Given the description of an element on the screen output the (x, y) to click on. 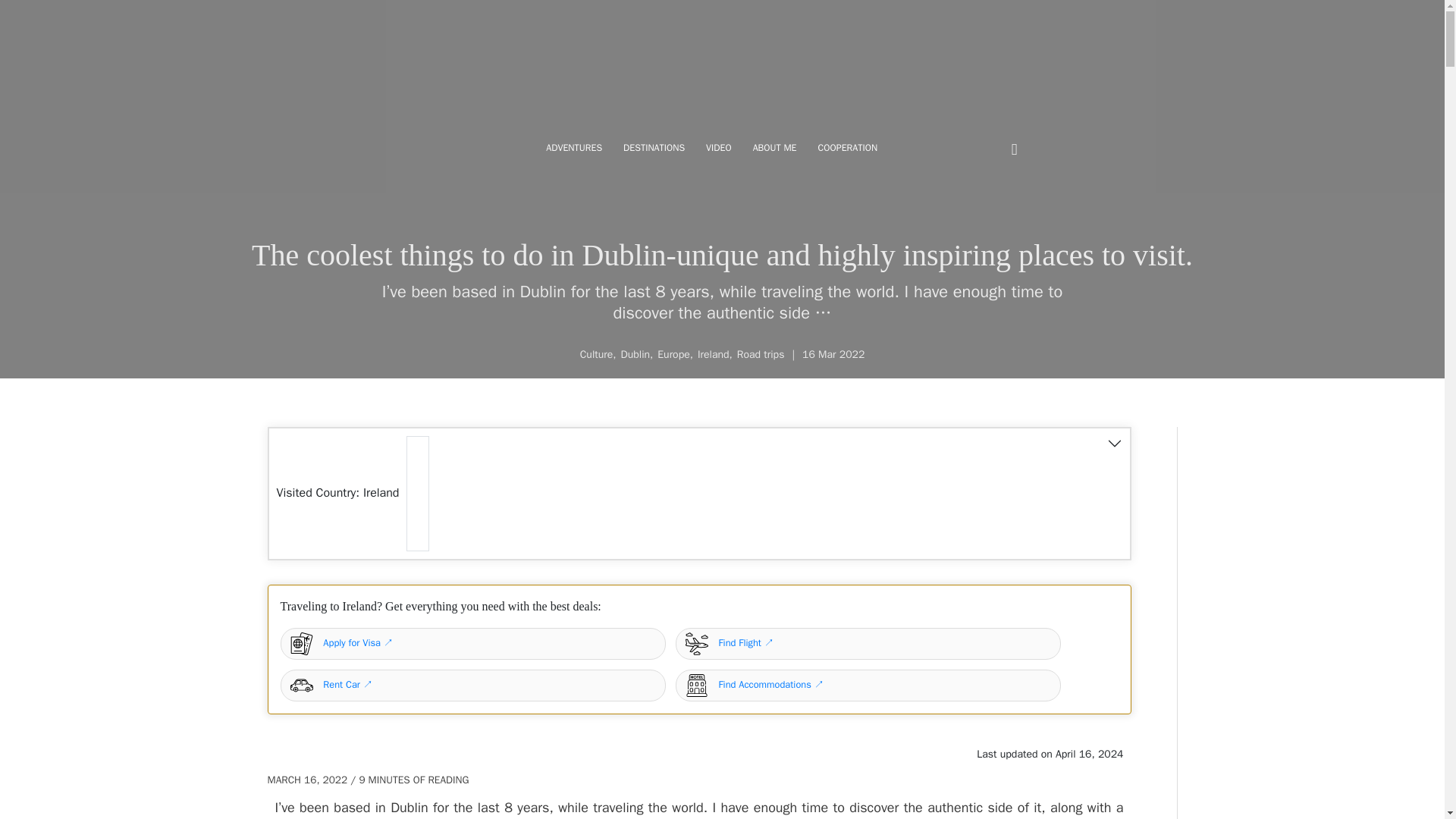
COOPERATION (847, 147)
DESTINATIONS (653, 147)
ADVENTURES (574, 147)
ABOUT ME (774, 147)
